Given the description of an element on the screen output the (x, y) to click on. 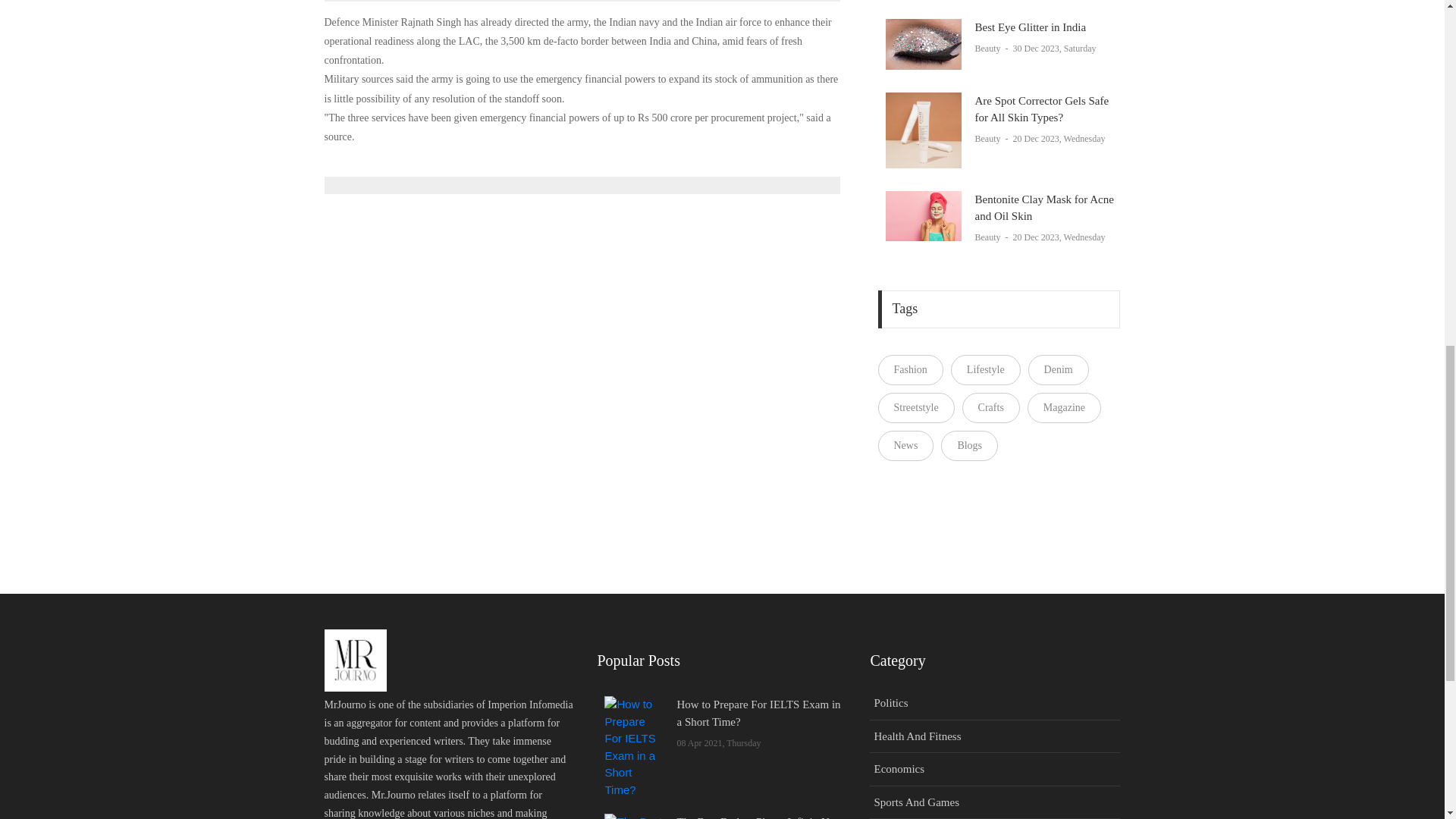
Are Spot Corrector Gels Safe for All Skin Types? (922, 130)
How to Prepare For IELTS Exam in a Short Time? (634, 747)
Best Eye Glitter in India (922, 43)
The Best Budget Phone Infinix Note 7  (634, 816)
Bentonite Clay Mask for Acne and Oil Skin (922, 215)
